Given the description of an element on the screen output the (x, y) to click on. 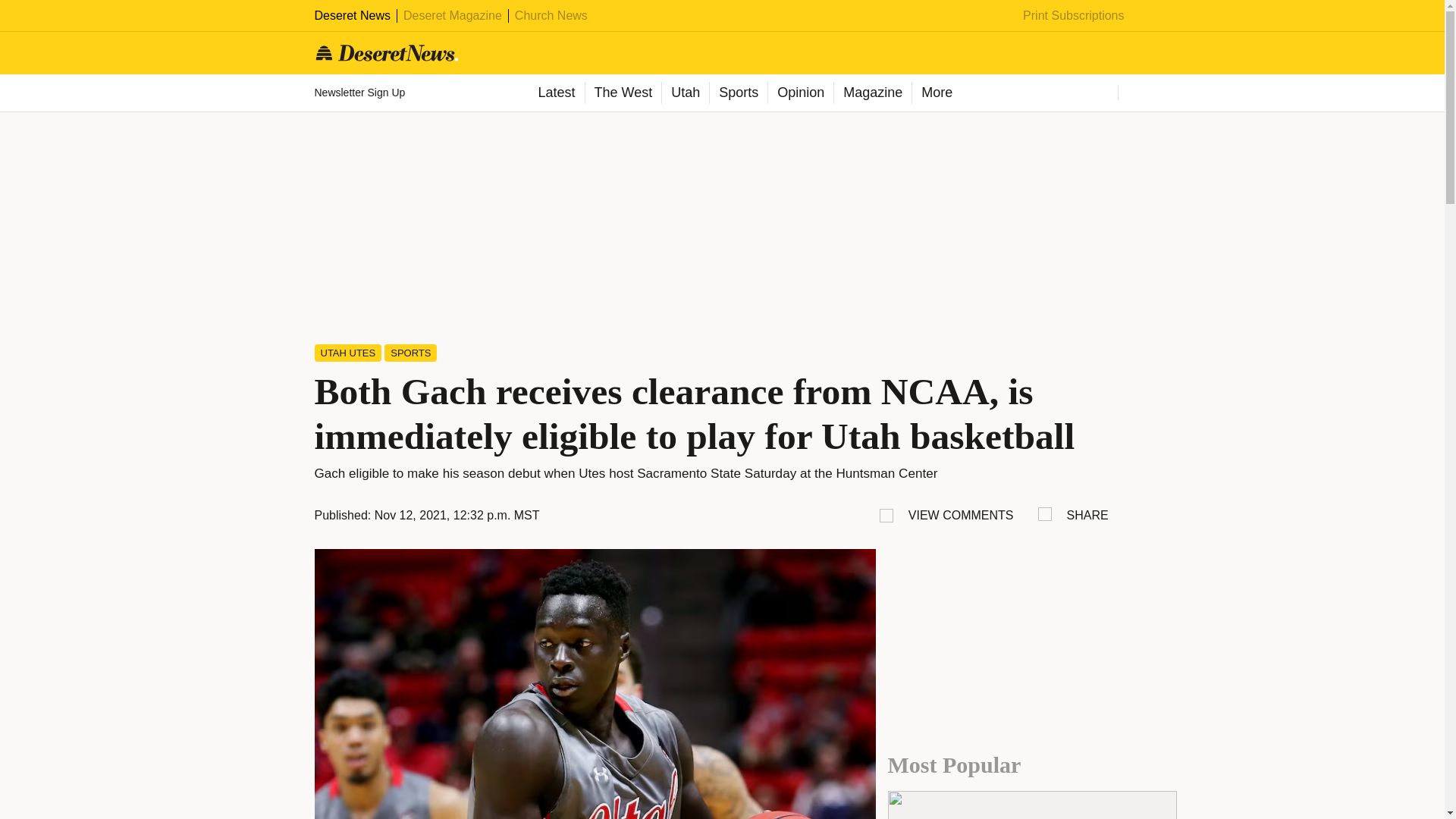
Utah (685, 92)
Church News (551, 15)
Print Subscriptions (1073, 15)
Latest (555, 92)
SPORTS (410, 352)
UTAH UTES (347, 352)
Newsletter Sign Up (361, 92)
Opinion (799, 92)
Sports (738, 92)
Deseret News (352, 15)
Deseret Magazine (452, 15)
The West (622, 92)
Magazine (871, 92)
